Given the description of an element on the screen output the (x, y) to click on. 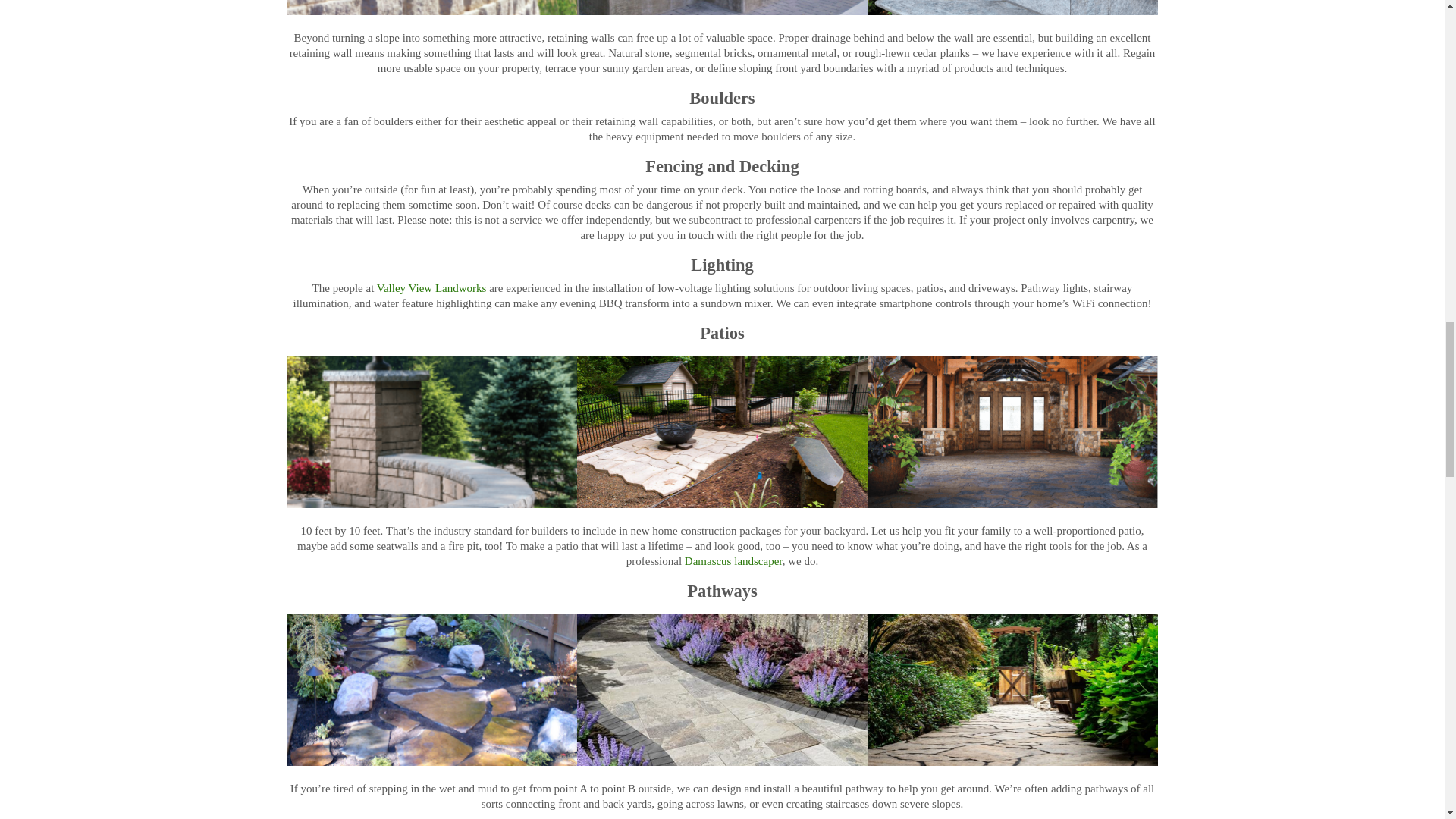
Valley View Landworks (431, 287)
Damascus landscaper (733, 561)
